Given the description of an element on the screen output the (x, y) to click on. 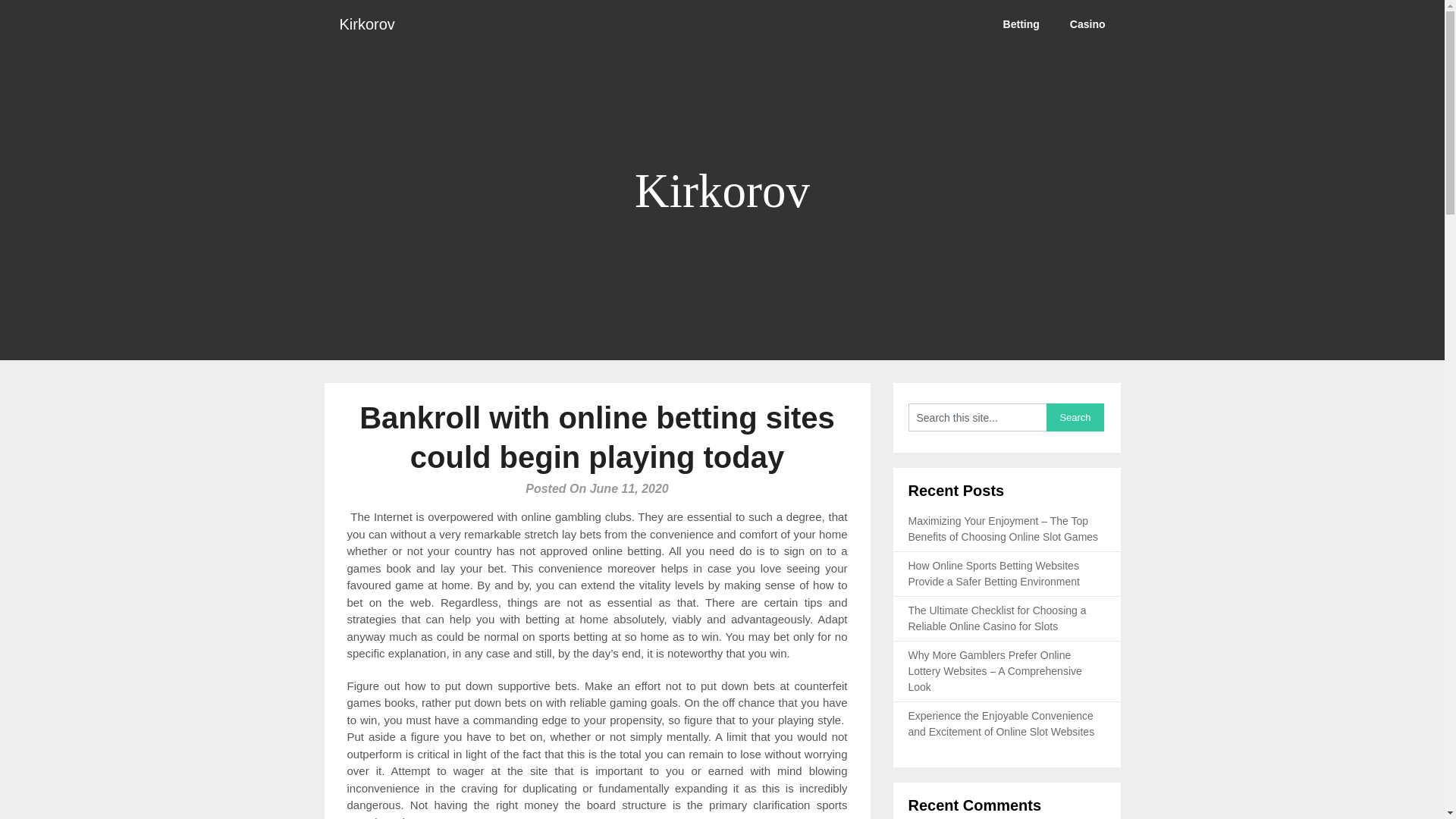
Betting (1021, 24)
Search this site... (977, 417)
Search (1075, 417)
Kirkorov (367, 24)
Casino (1087, 24)
Search (1075, 417)
